Given the description of an element on the screen output the (x, y) to click on. 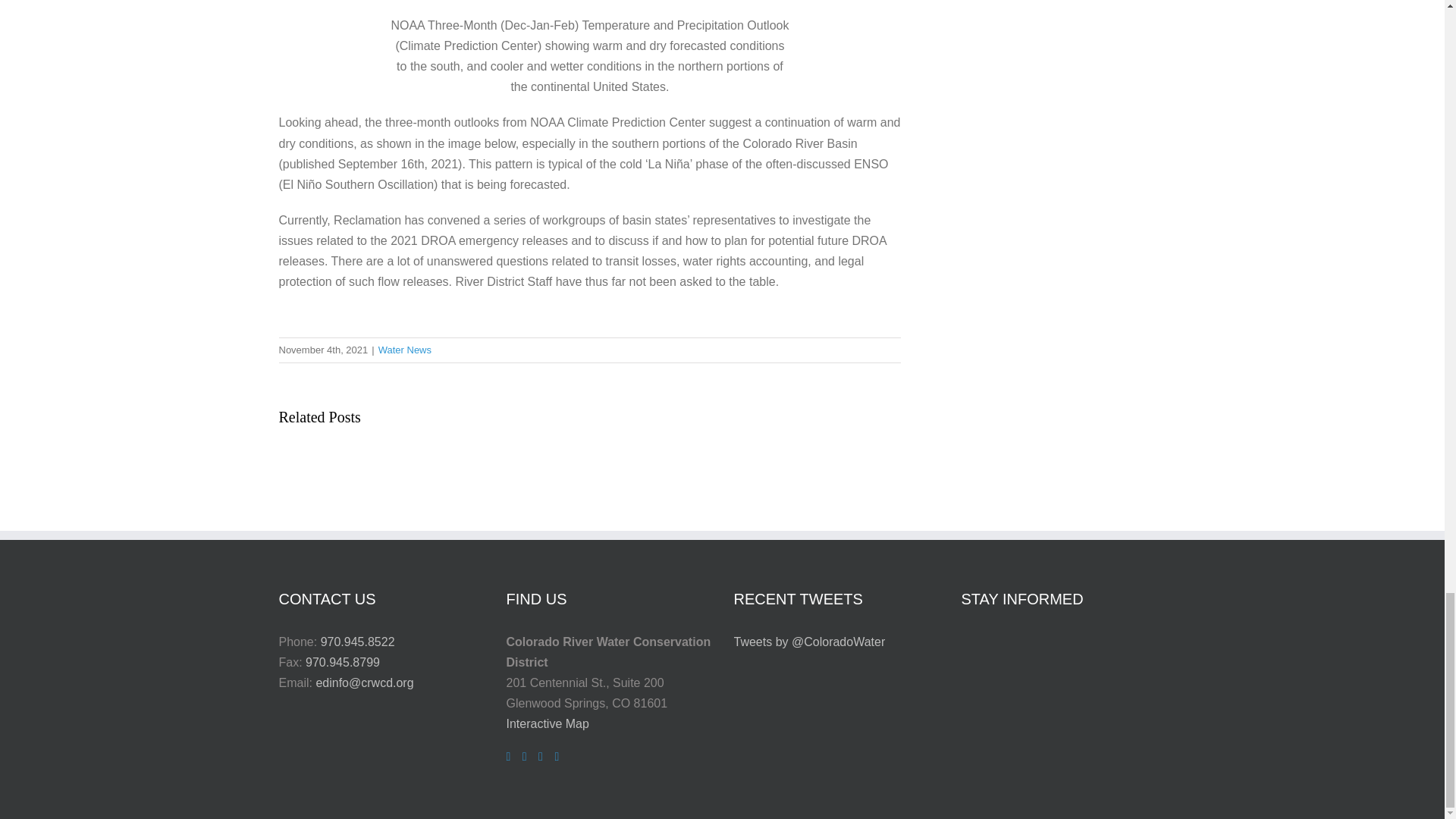
YouTube (556, 756)
Facebook (508, 756)
Twitter (540, 756)
Instagram (524, 756)
